Given the description of an element on the screen output the (x, y) to click on. 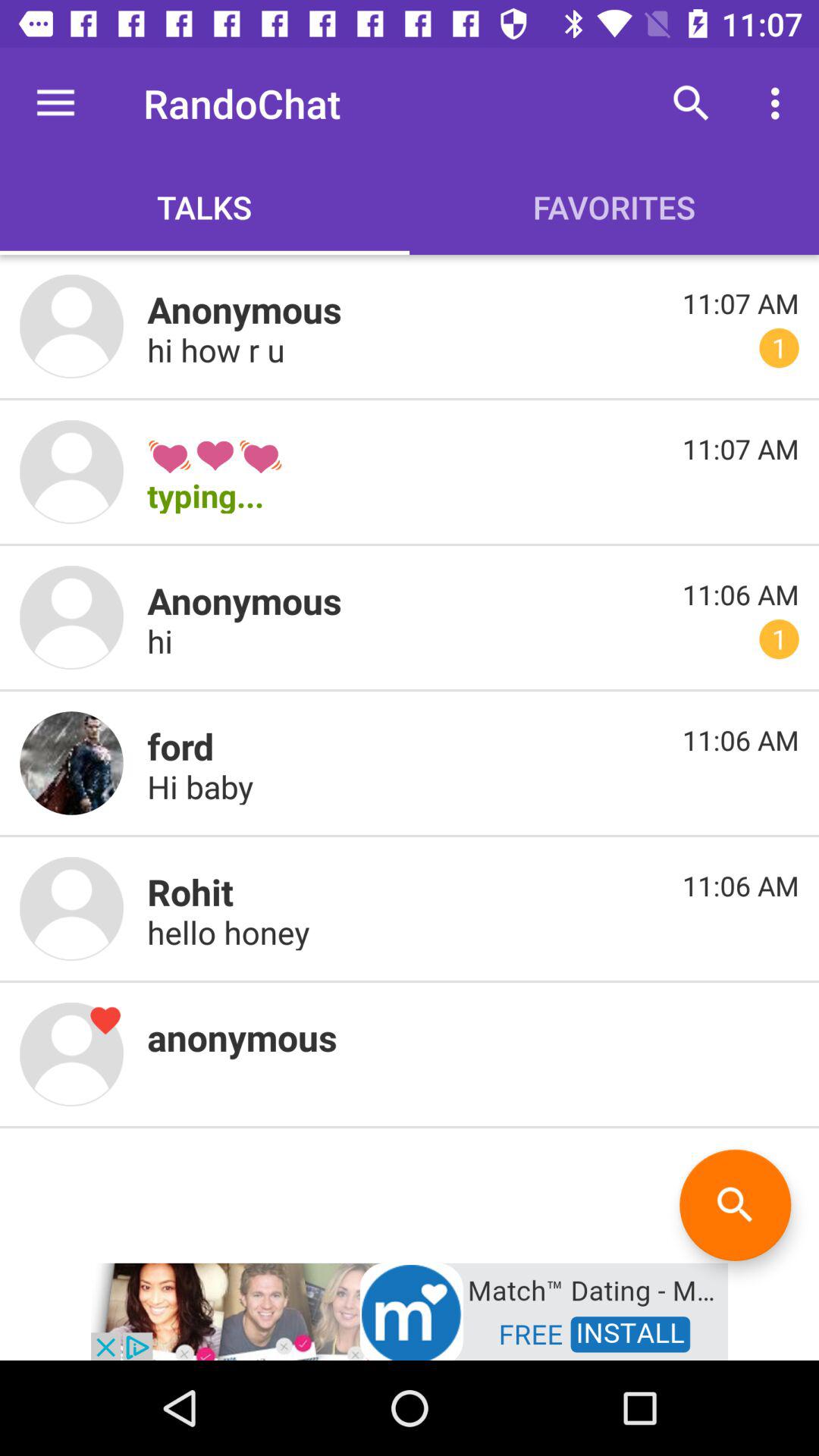
profile (71, 908)
